Given the description of an element on the screen output the (x, y) to click on. 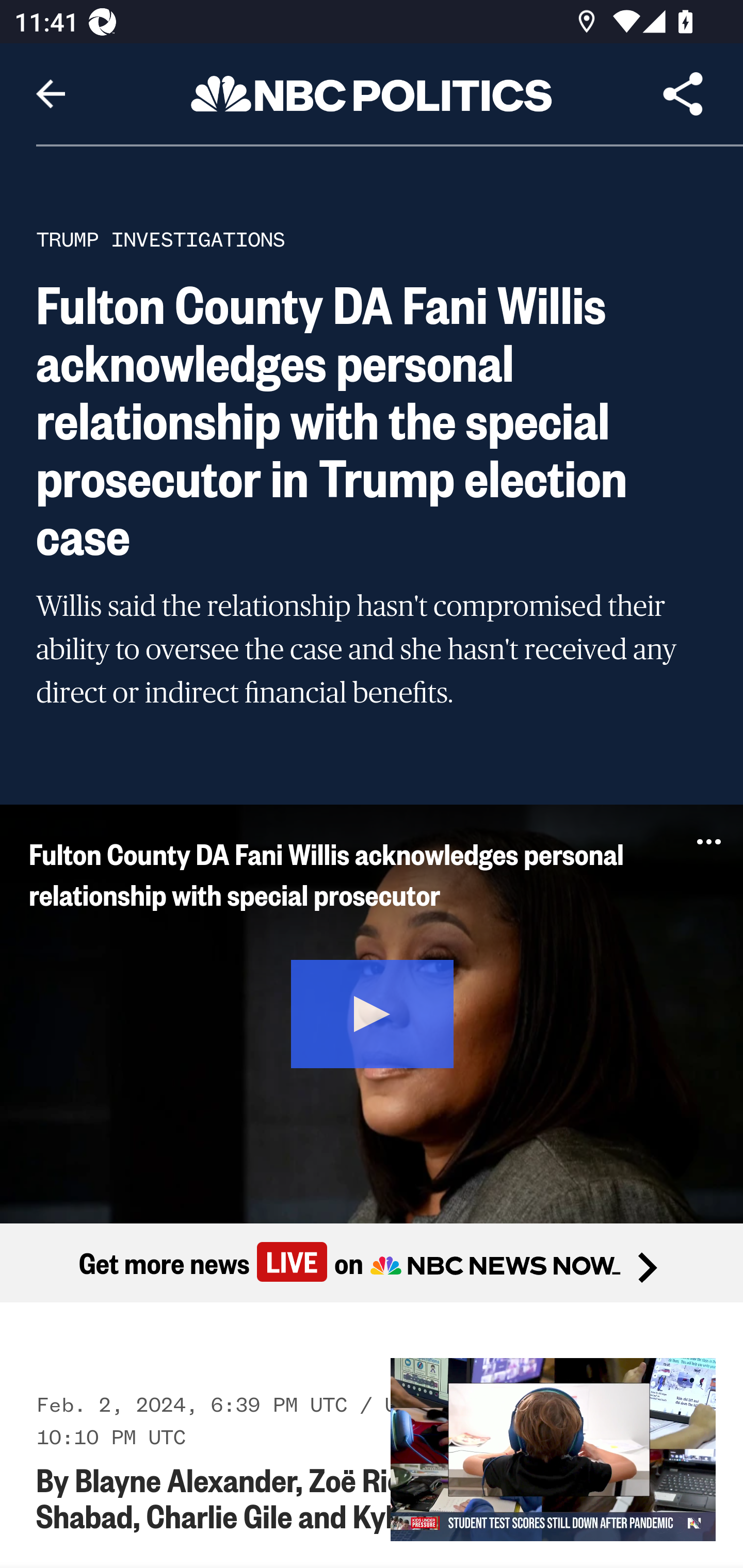
Navigate up (50, 93)
Share Article, button (683, 94)
Header, NBC Politics (371, 93)
TRUMP INVESTIGATIONS (160, 239)
Get more news Live on Get more news Live on (371, 1262)
